Given the description of an element on the screen output the (x, y) to click on. 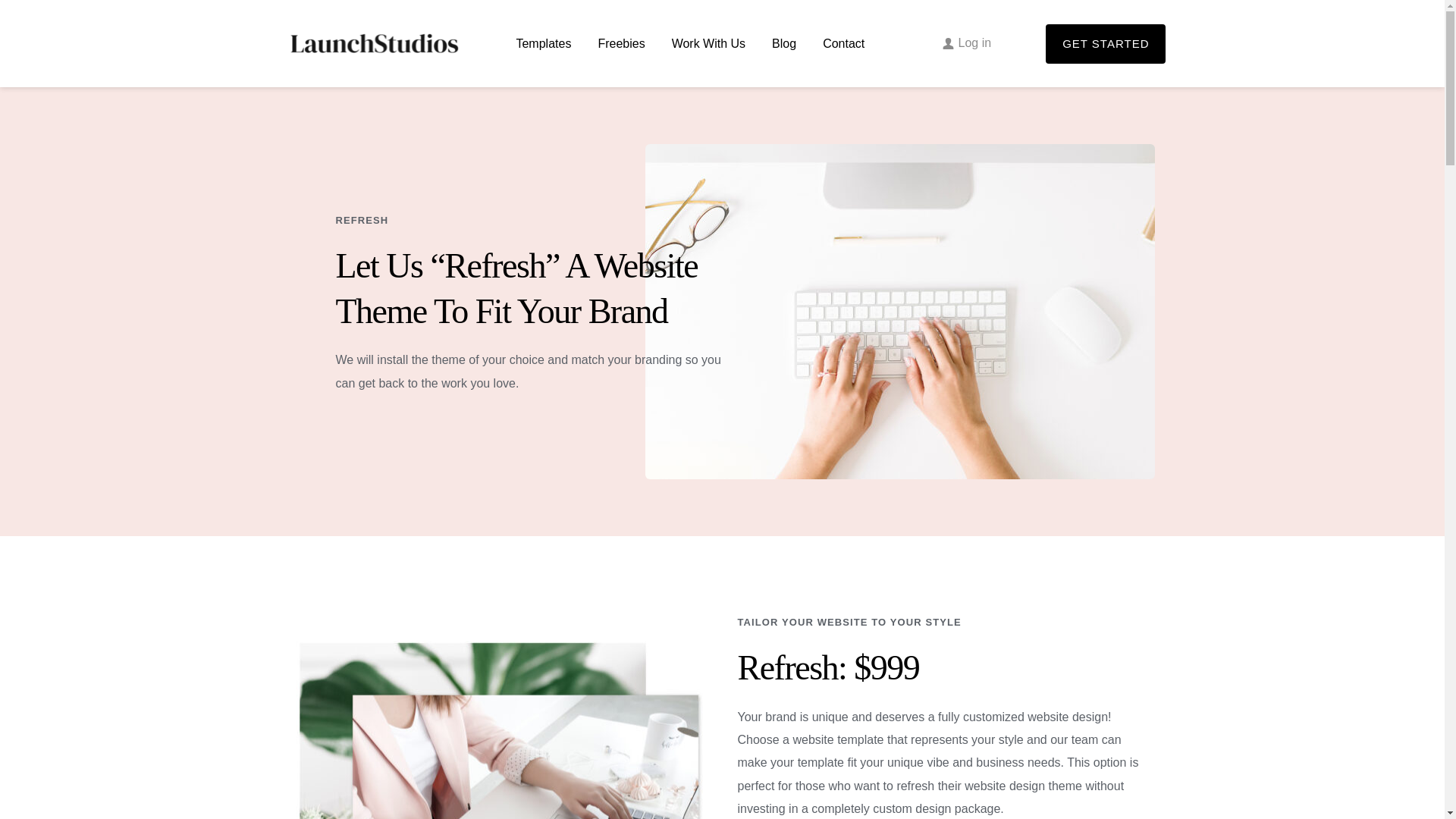
Freebies (620, 44)
Blog (783, 44)
Work With Us (708, 44)
Log in (967, 43)
GET STARTED (1105, 43)
Templates (543, 44)
Contact (842, 44)
